Given the description of an element on the screen output the (x, y) to click on. 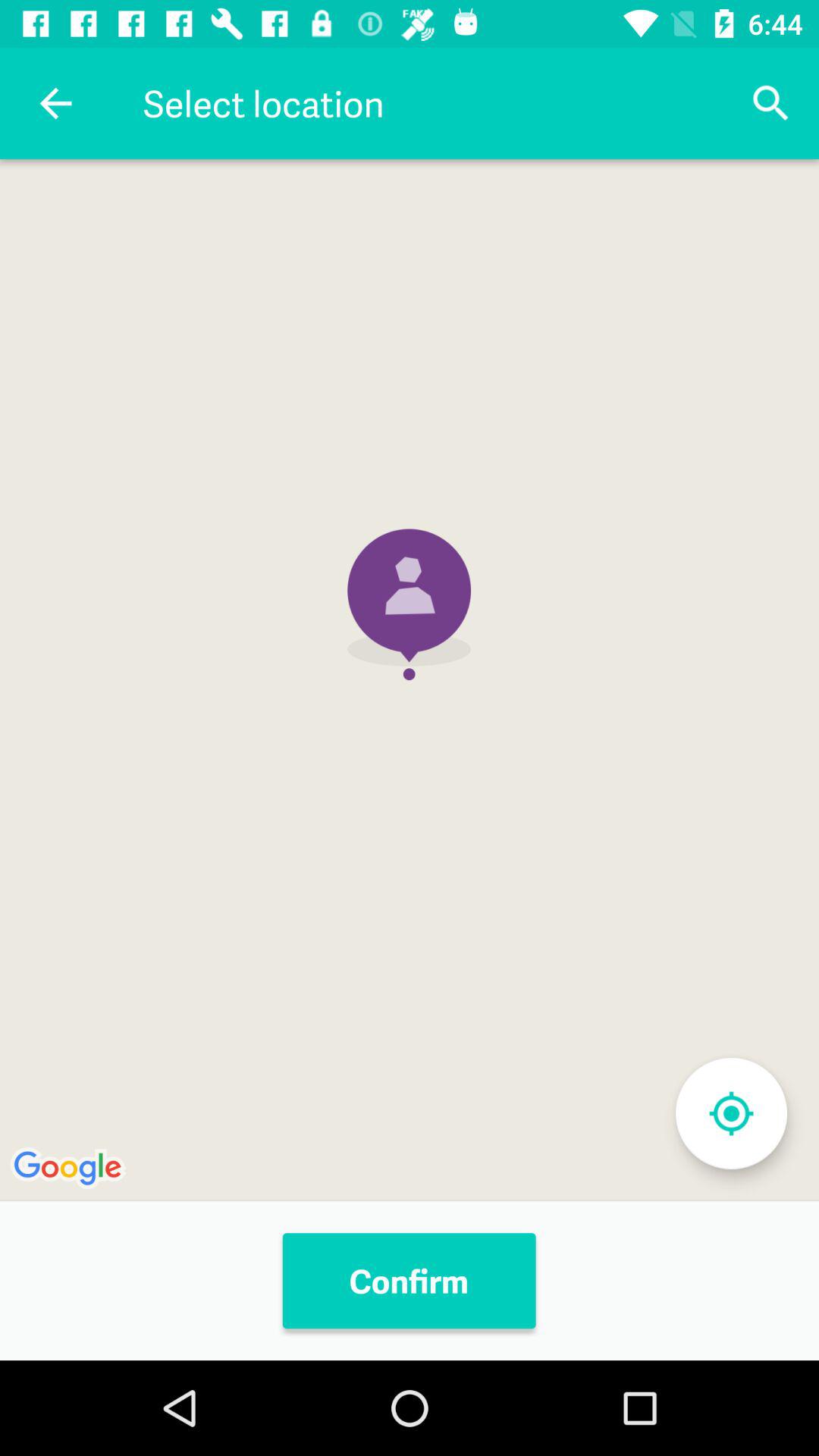
launch icon at the top right corner (771, 103)
